Given the description of an element on the screen output the (x, y) to click on. 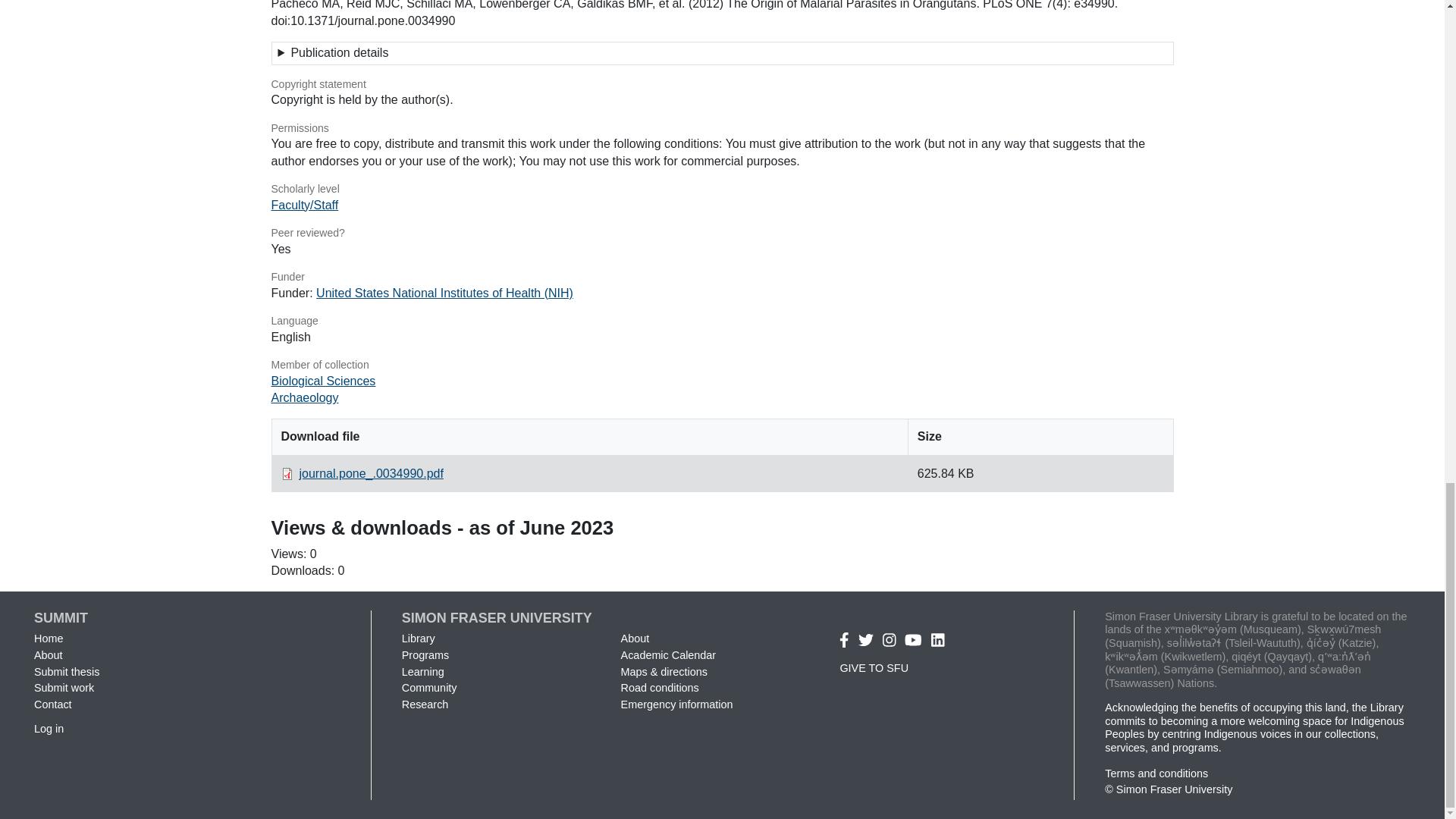
Archaeology (304, 397)
Submit thesis (66, 671)
About (47, 654)
Biological Sciences (322, 380)
Submit work (63, 687)
Contact (52, 704)
Home (47, 638)
Copyright statement (721, 84)
Permissions (721, 128)
